Given the description of an element on the screen output the (x, y) to click on. 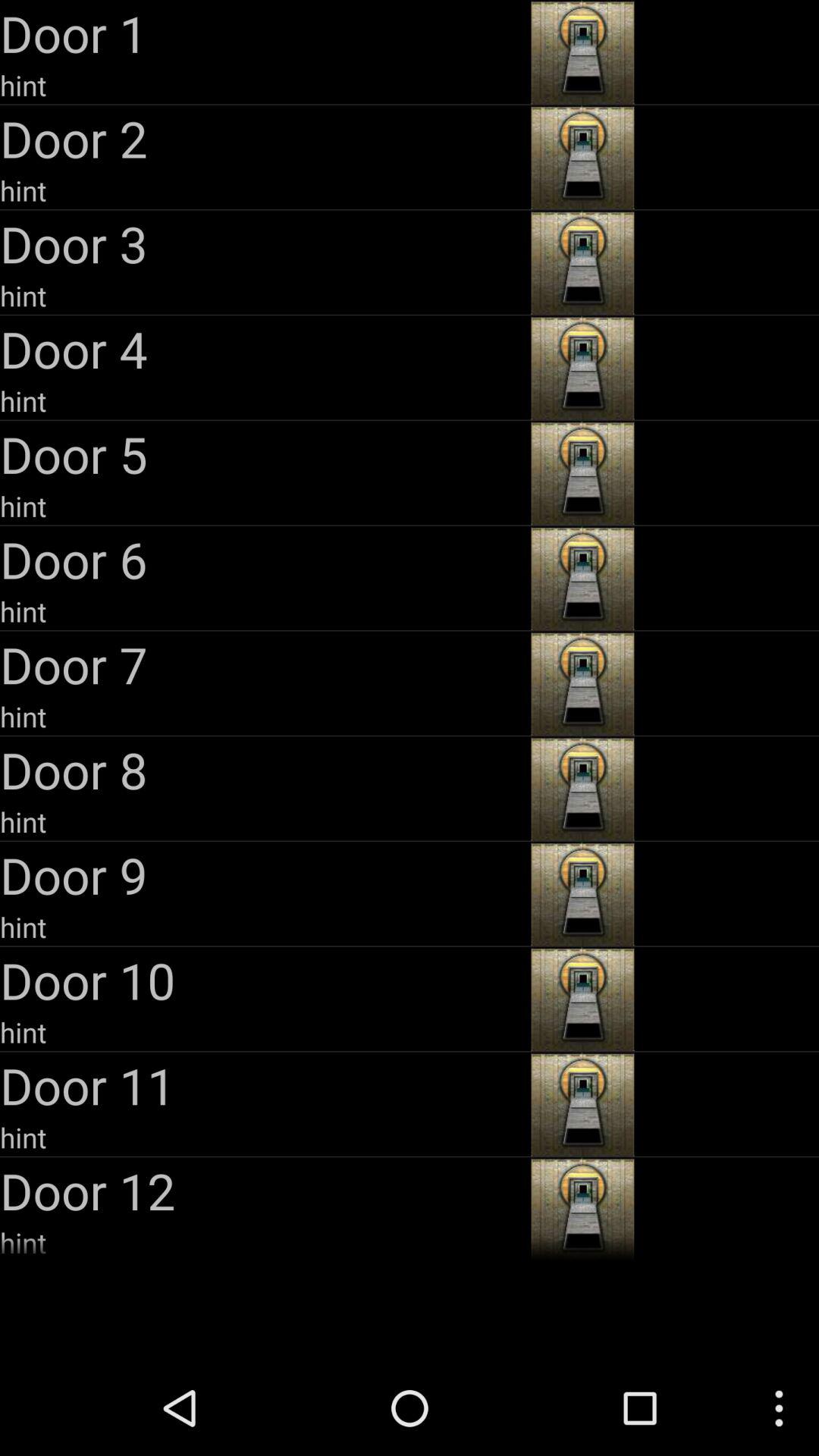
tap the door 4 (263, 348)
